Given the description of an element on the screen output the (x, y) to click on. 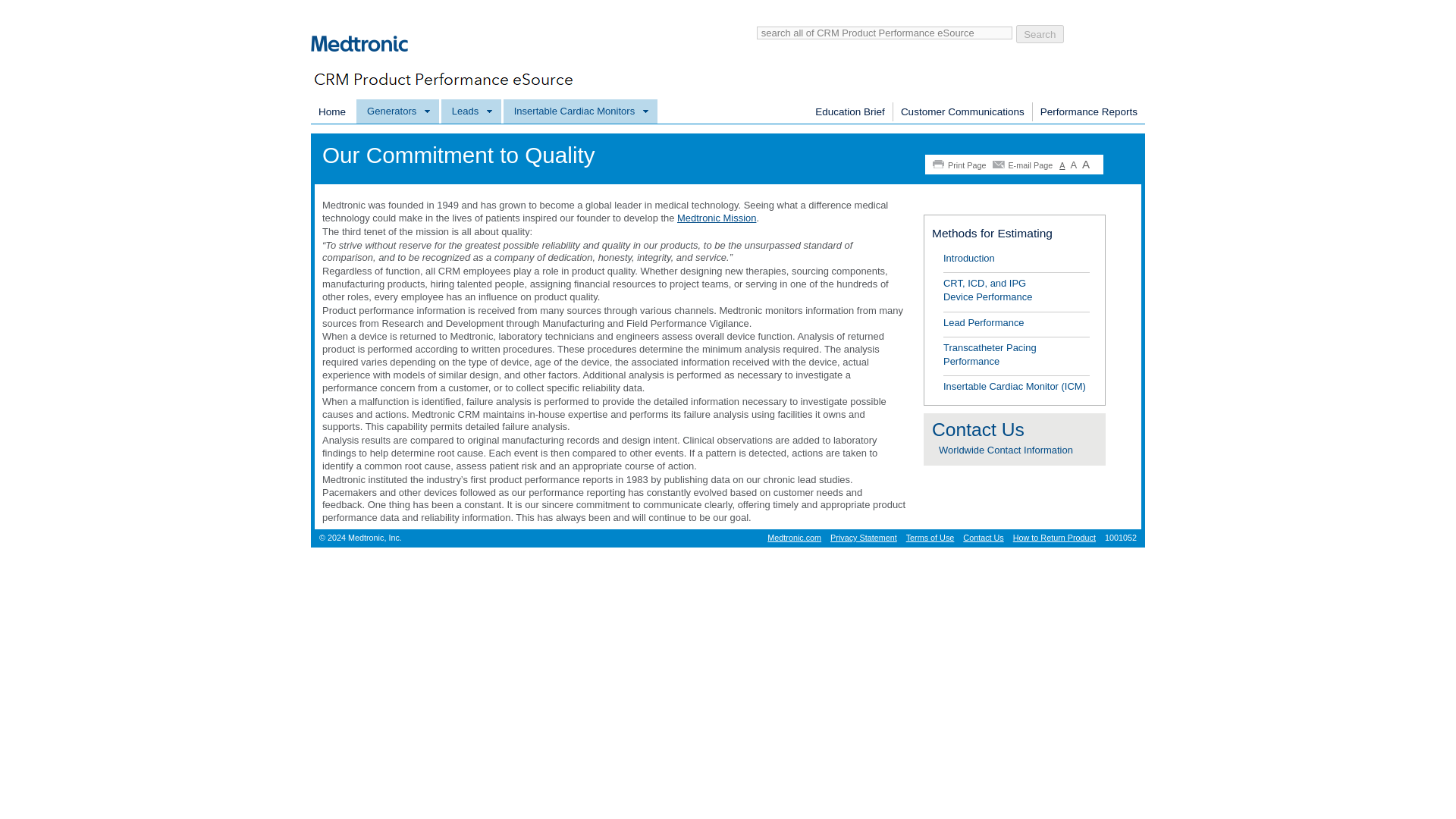
Insertable Cardiac Monitors (579, 111)
search all of CRM Product Performance eSource (884, 32)
Generators (397, 111)
Leads (471, 111)
Search (1040, 34)
Home (332, 111)
return to the home page (368, 62)
Search (1040, 34)
